Given the description of an element on the screen output the (x, y) to click on. 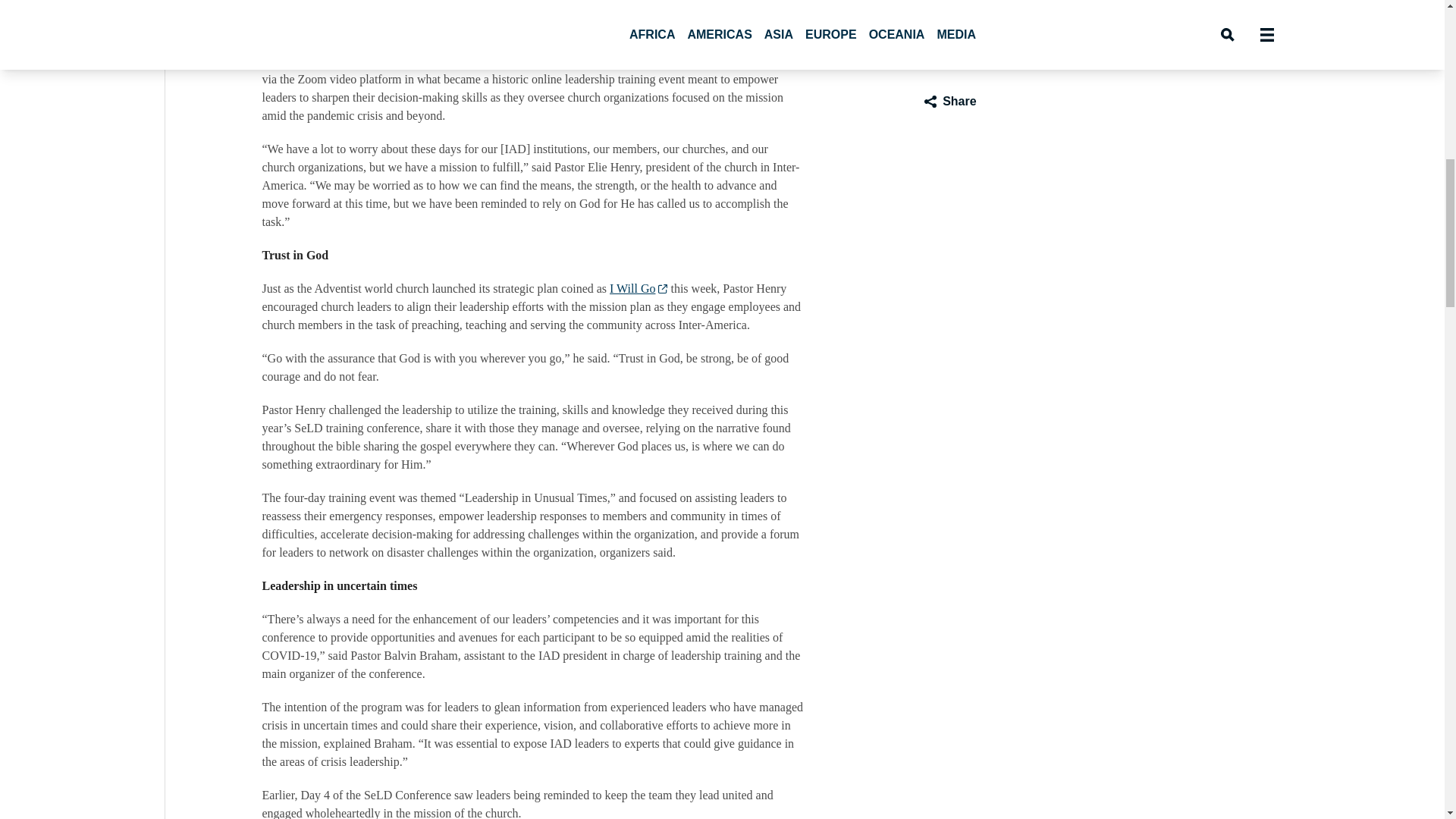
I Will Go (638, 289)
